Given the description of an element on the screen output the (x, y) to click on. 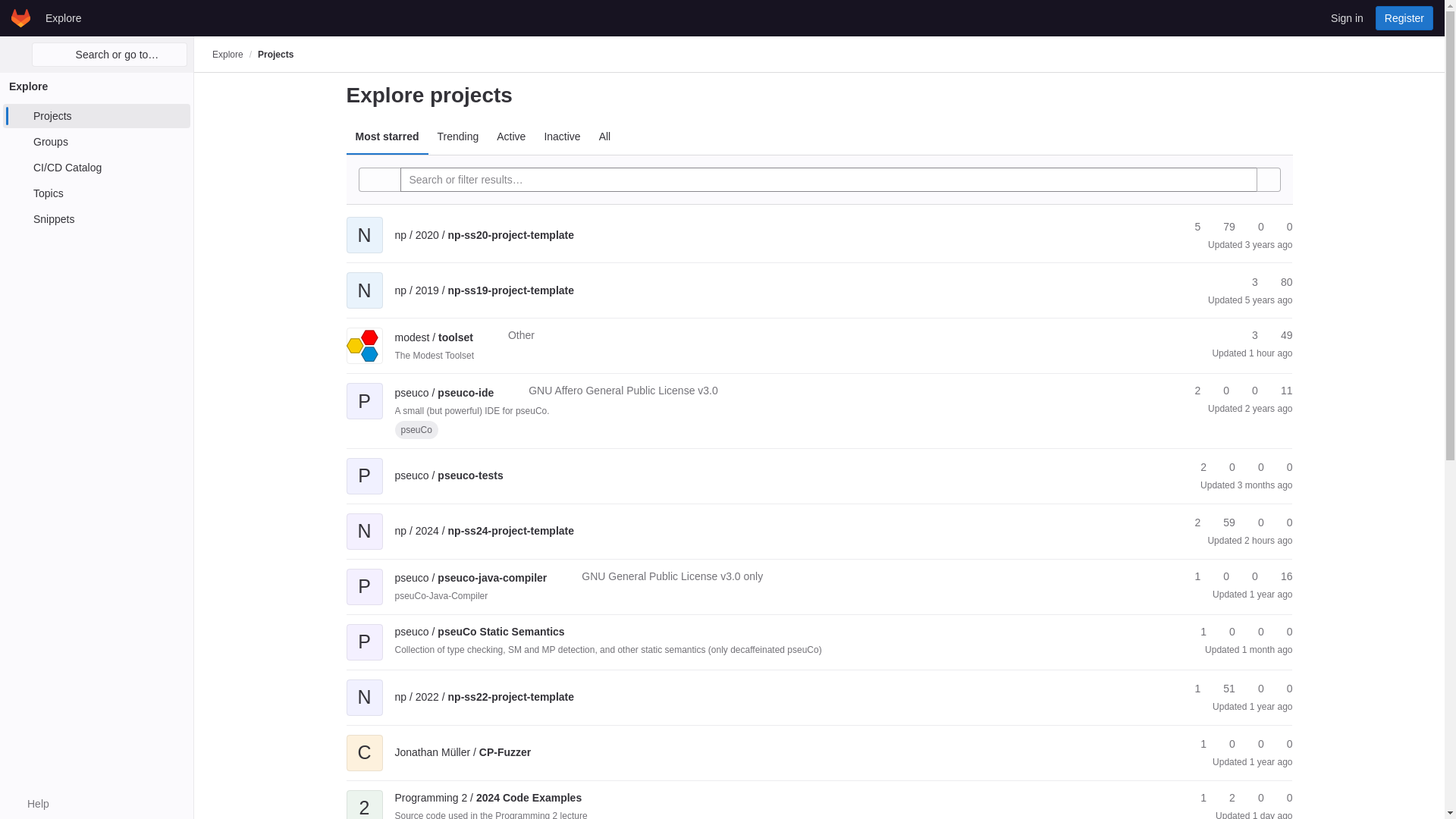
Explore (227, 54)
N (363, 224)
Homepage (20, 17)
Help (30, 803)
5 (1190, 227)
Forks (1279, 282)
Groups (96, 141)
0 (1253, 227)
Stars (1190, 227)
Forks (1221, 227)
Trending (457, 135)
Register (1403, 17)
np-ss19-project-template (483, 290)
Merge requests (1253, 227)
Projects (96, 115)
